Given the description of an element on the screen output the (x, y) to click on. 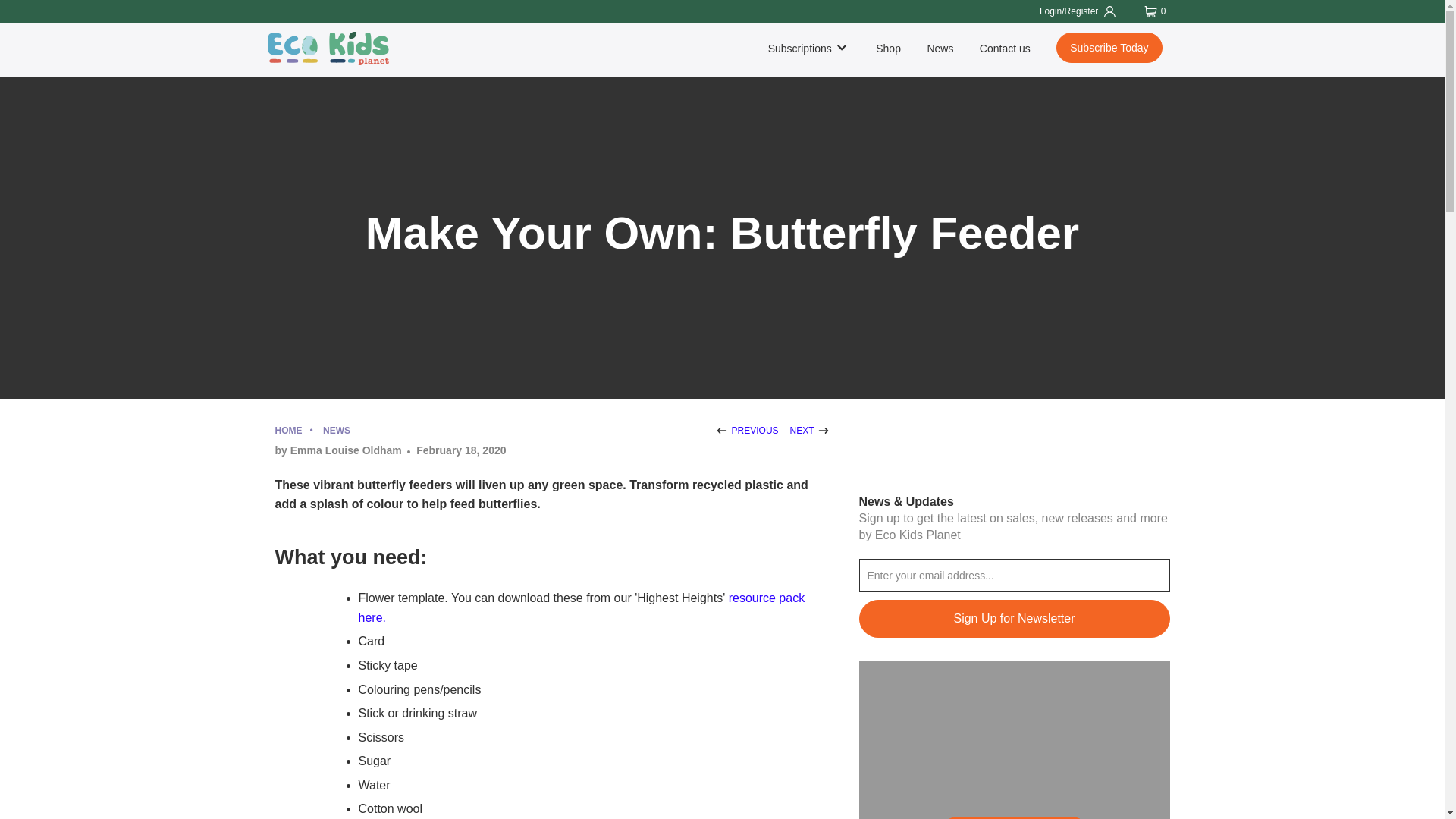
Eco Kids Planet (339, 48)
News (336, 430)
Subscribe Today (1109, 47)
Eco Kids Planet (288, 430)
0 (1155, 11)
PREVIOUS (746, 430)
Subscriptions (809, 49)
Contact us (1004, 49)
HOME (288, 430)
My Account  (1075, 11)
NEWS (336, 430)
Sign Up for Newsletter (1014, 618)
